Given the description of an element on the screen output the (x, y) to click on. 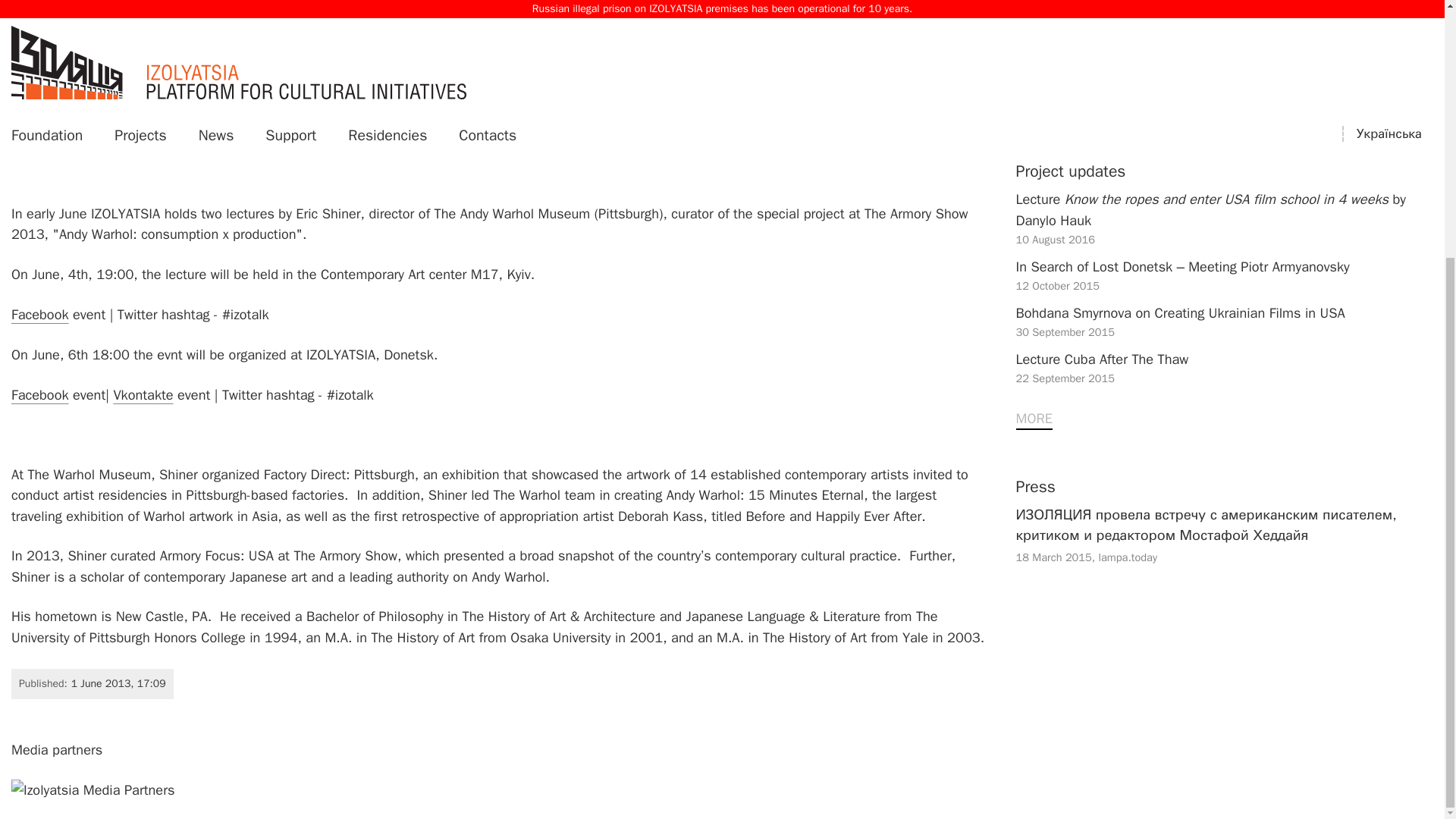
Facebook (39, 394)
Facebook (1225, 151)
Vkontakte (39, 313)
